Given the description of an element on the screen output the (x, y) to click on. 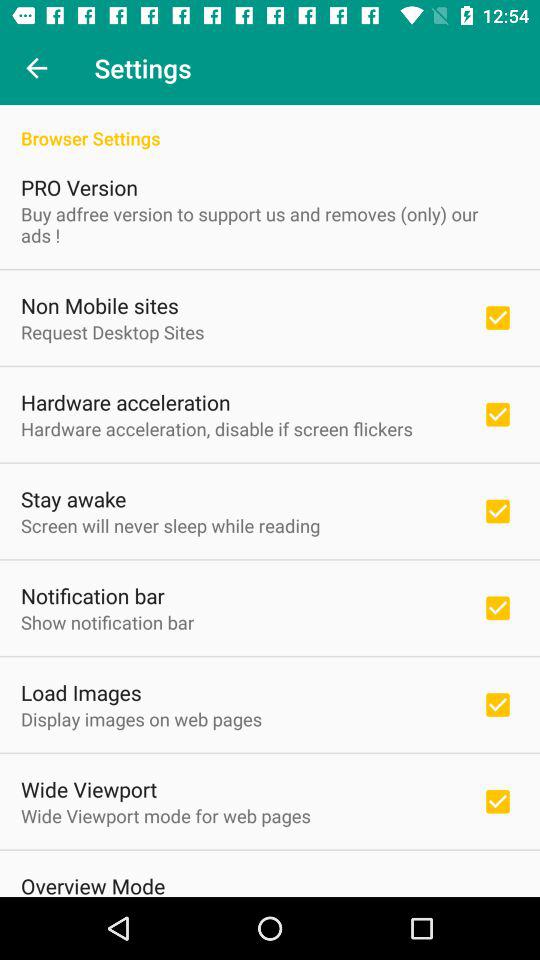
open the icon above notification bar item (170, 525)
